Given the description of an element on the screen output the (x, y) to click on. 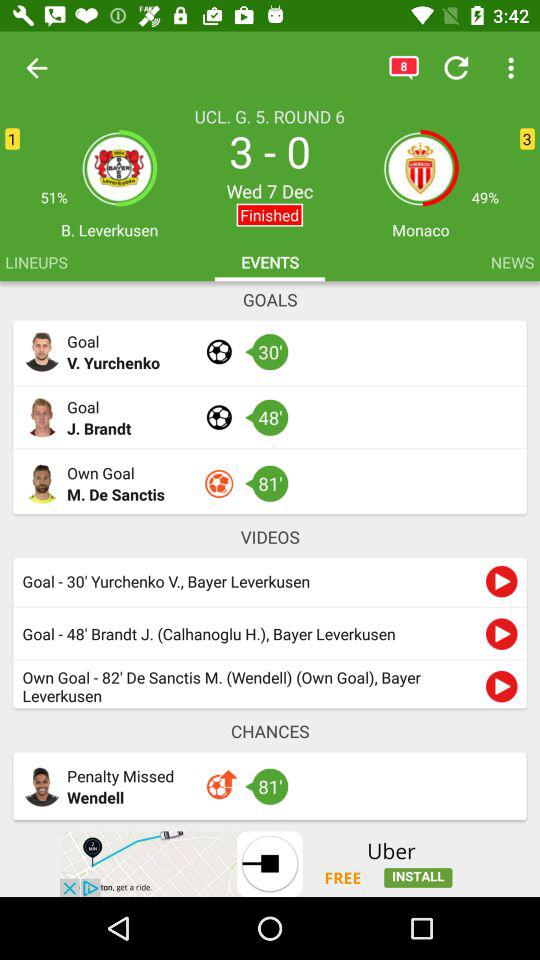
select the picture of vyurchenko (42, 351)
select profile picture which is at the bottom of the page (42, 787)
